Given the description of an element on the screen output the (x, y) to click on. 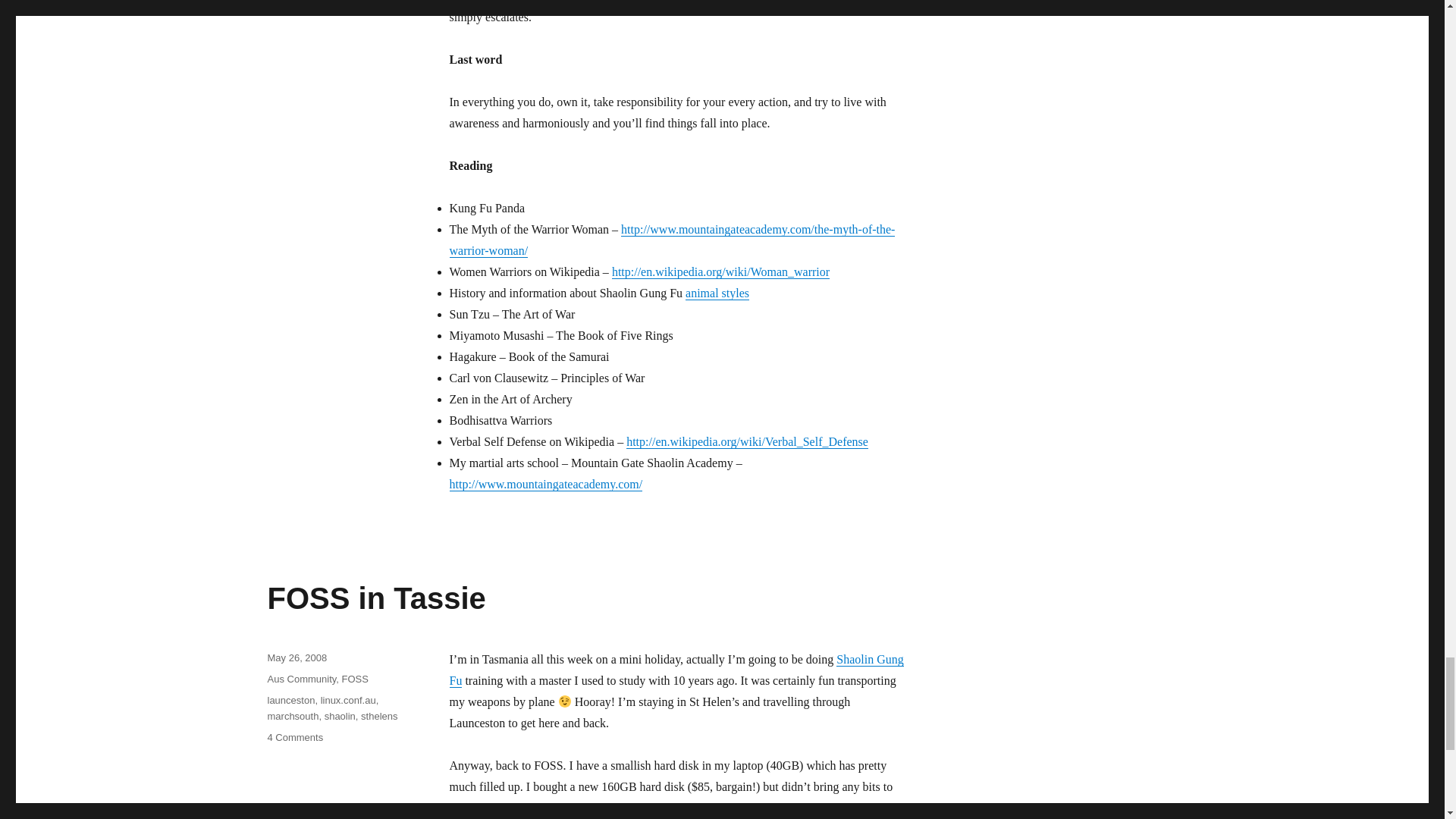
linux.conf.au (294, 737)
FOSS (347, 699)
Aus Community (355, 678)
Shaolin Gung Fu (301, 678)
FOSS in Tassie (675, 669)
May 26, 2008 (375, 598)
marchsouth (296, 657)
shaolin (292, 715)
animal styles (339, 715)
launceston (717, 292)
sthelens (290, 699)
